Given the description of an element on the screen output the (x, y) to click on. 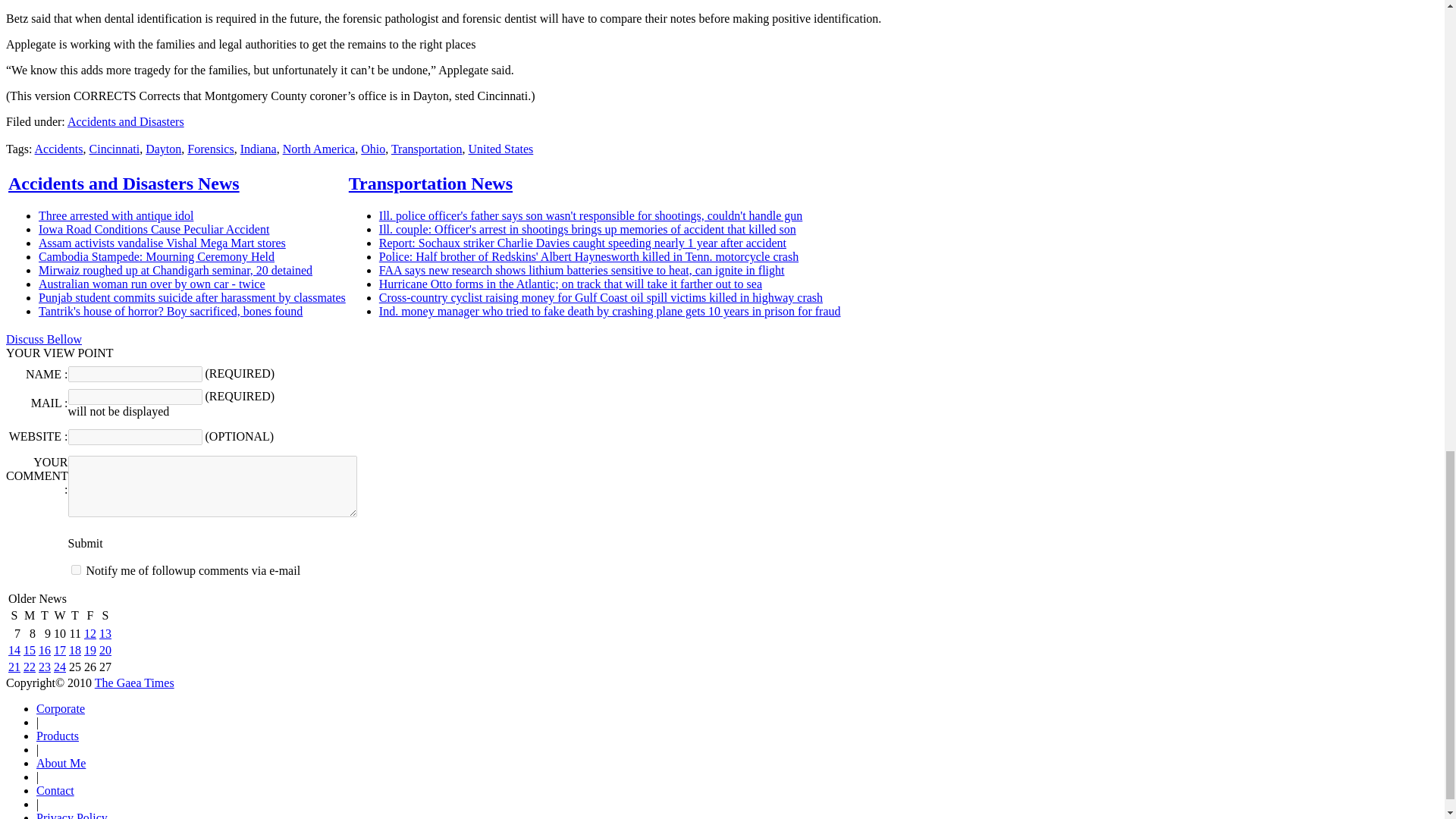
subscribe (76, 569)
Forensics (209, 148)
North America (318, 148)
Accidents (58, 148)
Ohio (373, 148)
Accidents and Disasters (125, 121)
Indiana (258, 148)
Dayton (162, 148)
Cincinnati (113, 148)
